Given the description of an element on the screen output the (x, y) to click on. 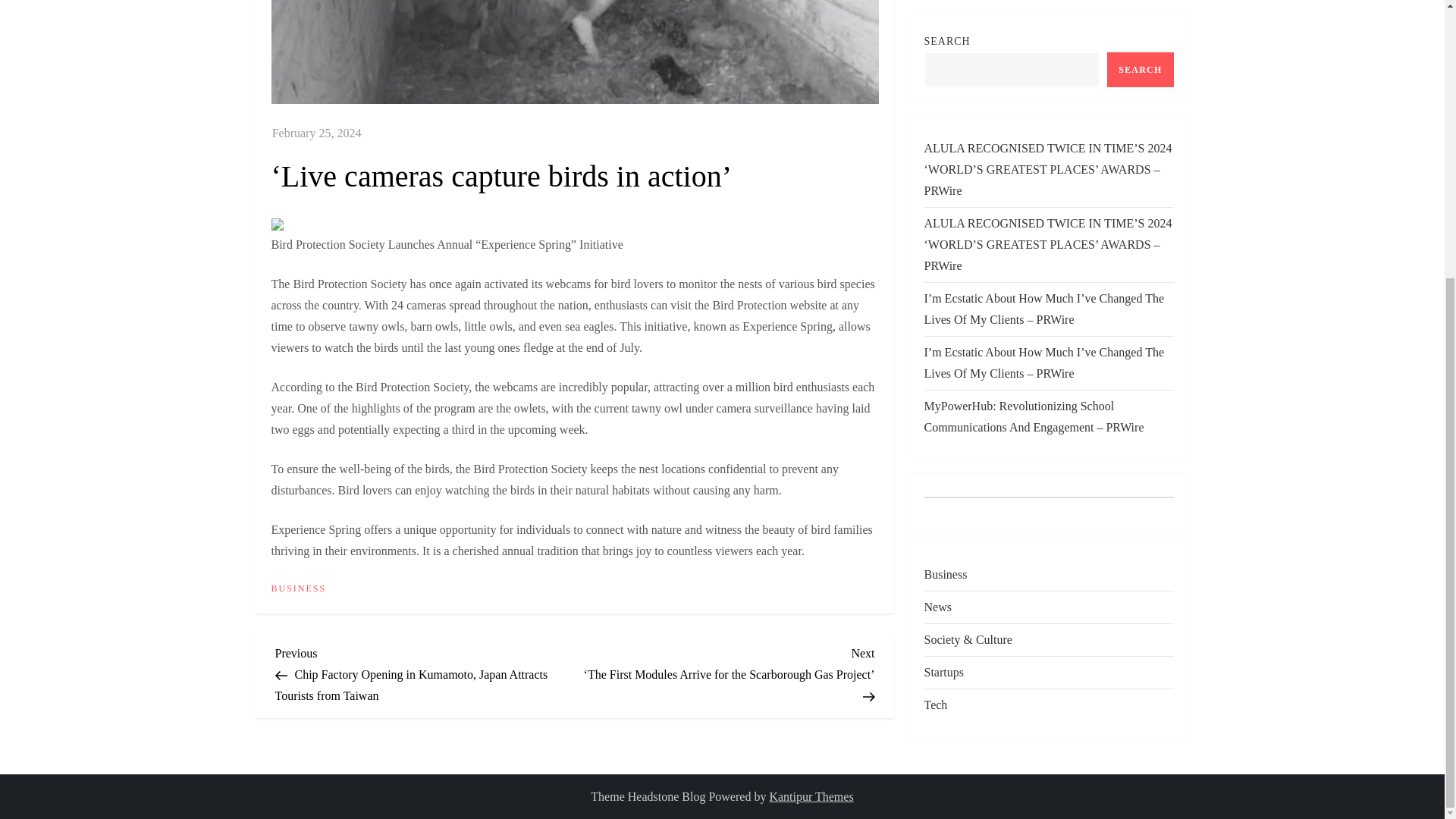
Kantipur Themes (810, 796)
February 25, 2024 (316, 132)
BUSINESS (298, 589)
News (936, 338)
Startups (942, 403)
Tech (935, 436)
Business (944, 305)
